Given the description of an element on the screen output the (x, y) to click on. 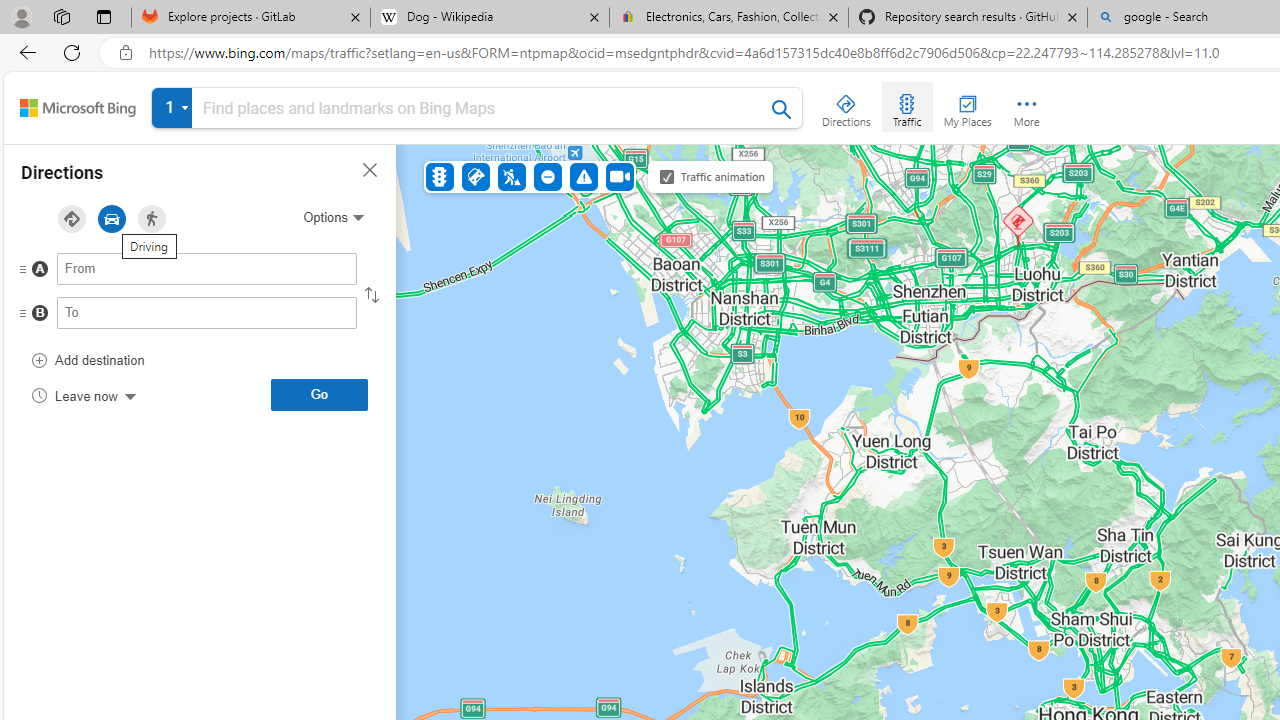
Traffic (440, 176)
Traffic (906, 106)
1 (477, 111)
B (167, 318)
From (207, 268)
Add destination (88, 359)
Electronics, Cars, Fashion, Collectibles & More | eBay (729, 17)
Directions (846, 106)
More (1026, 106)
 View all your searches (172, 107)
Road Closures (547, 176)
Dog - Wikipedia (490, 17)
